Given the description of an element on the screen output the (x, y) to click on. 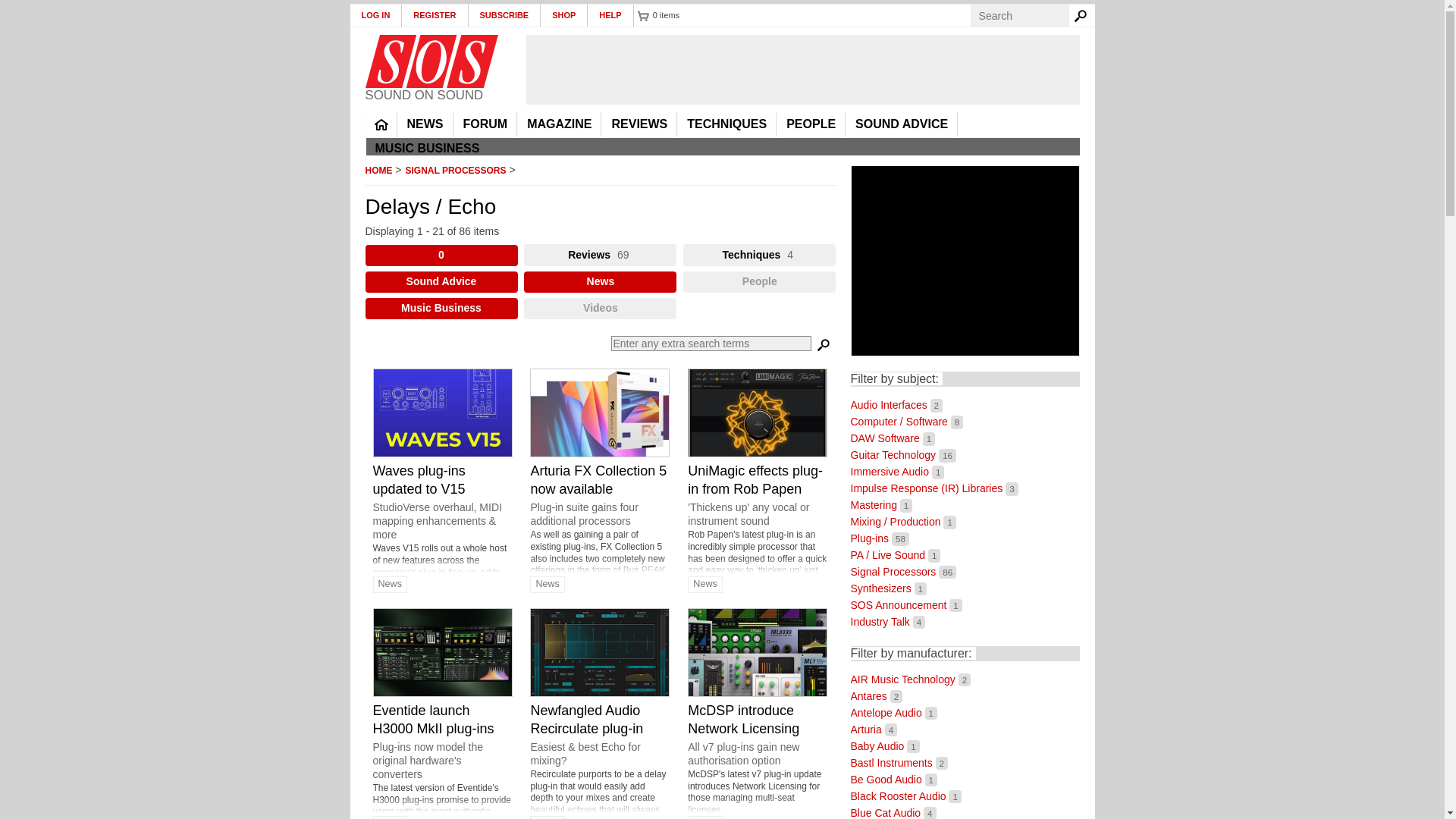
NEWS (424, 124)
Search (1082, 15)
SHOP (564, 15)
Apply (822, 346)
HOME (380, 124)
FORUM (484, 124)
MAGAZINE (558, 124)
SUBSCRIBE (504, 15)
LOG IN (376, 15)
Home (431, 61)
Search (1082, 15)
HELP (610, 15)
3rd party ad content (801, 70)
REGISTER (434, 15)
